Given the description of an element on the screen output the (x, y) to click on. 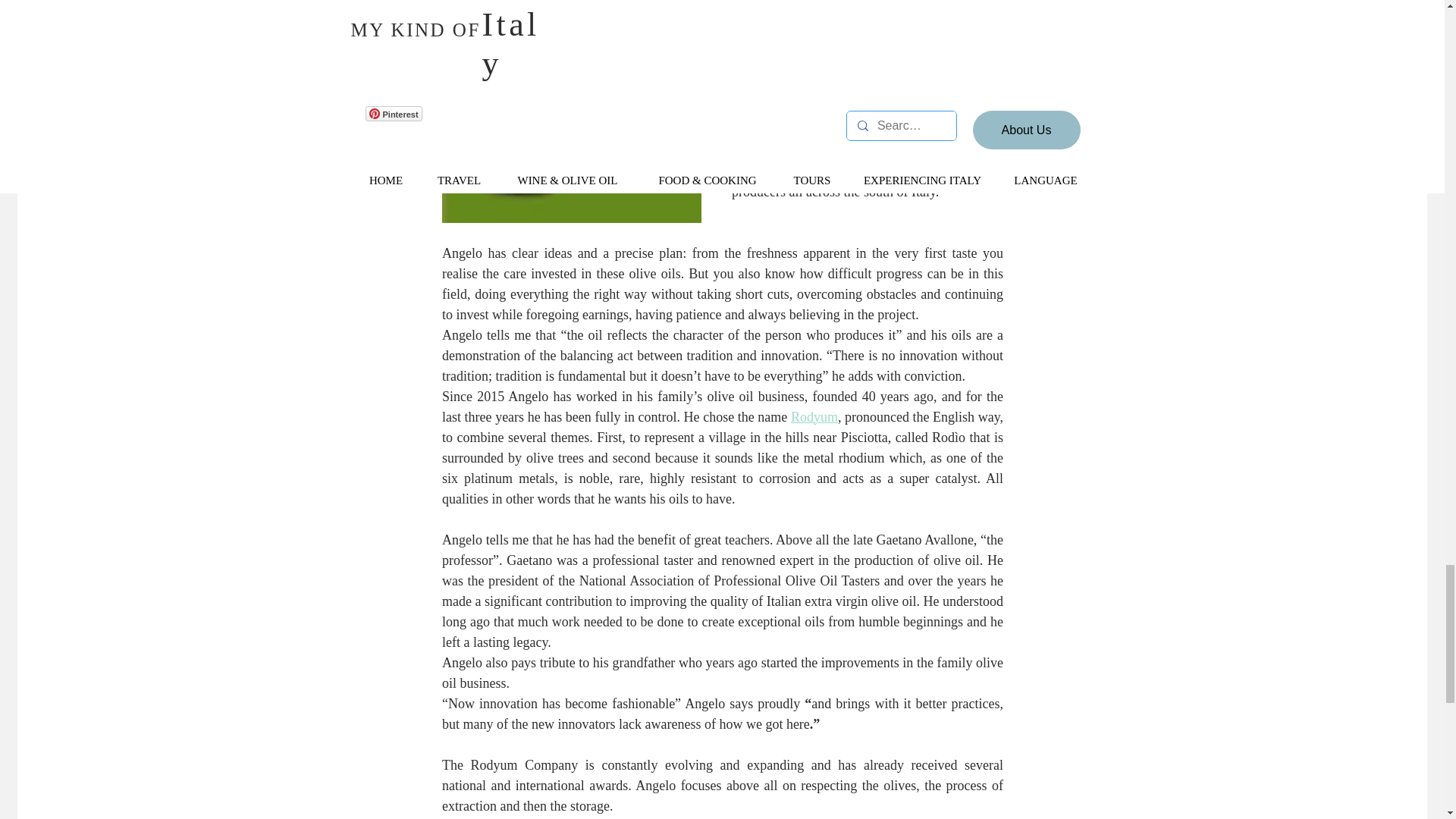
Rodyum (813, 417)
